Given the description of an element on the screen output the (x, y) to click on. 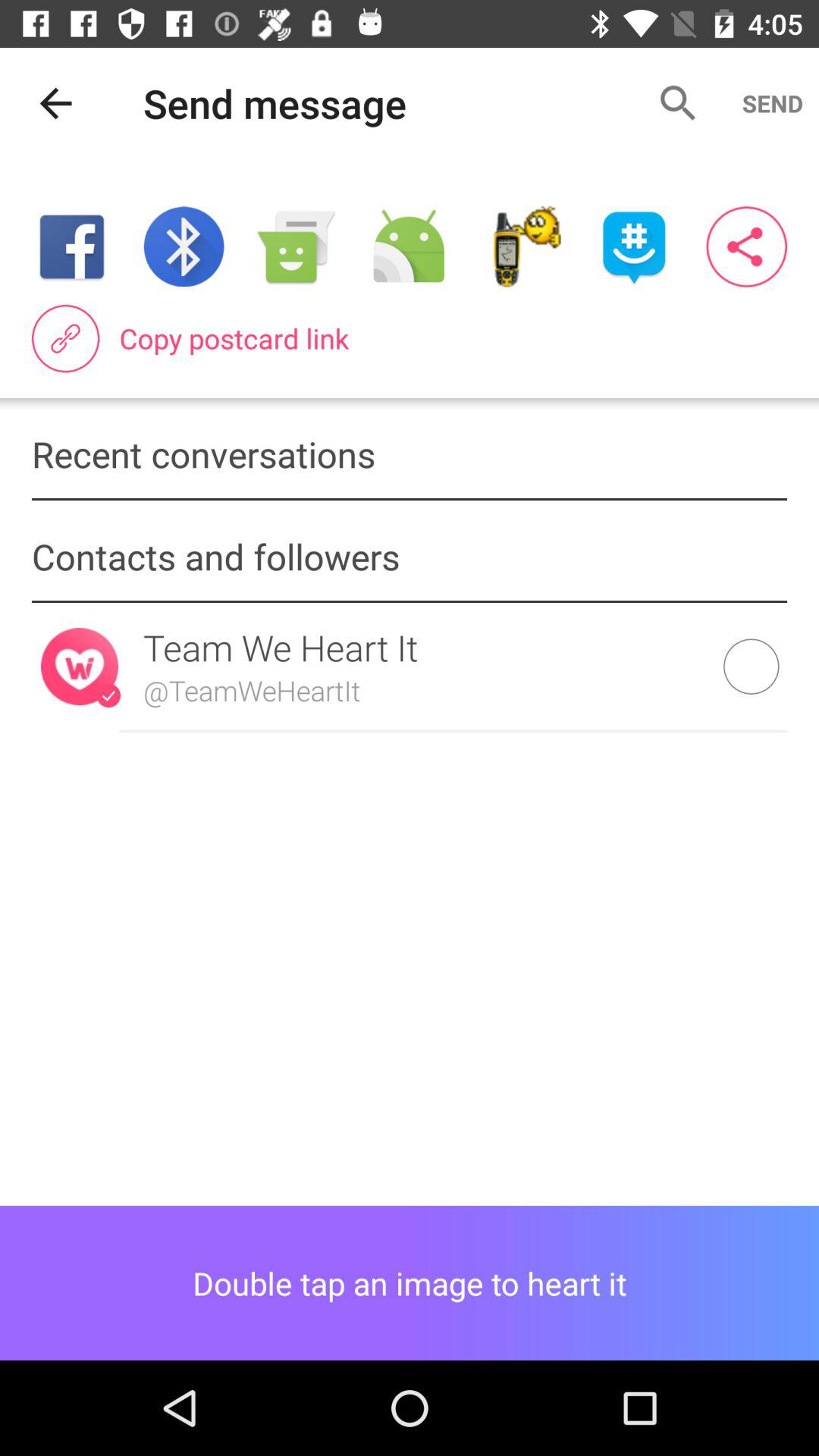
switch sending app (408, 246)
